Given the description of an element on the screen output the (x, y) to click on. 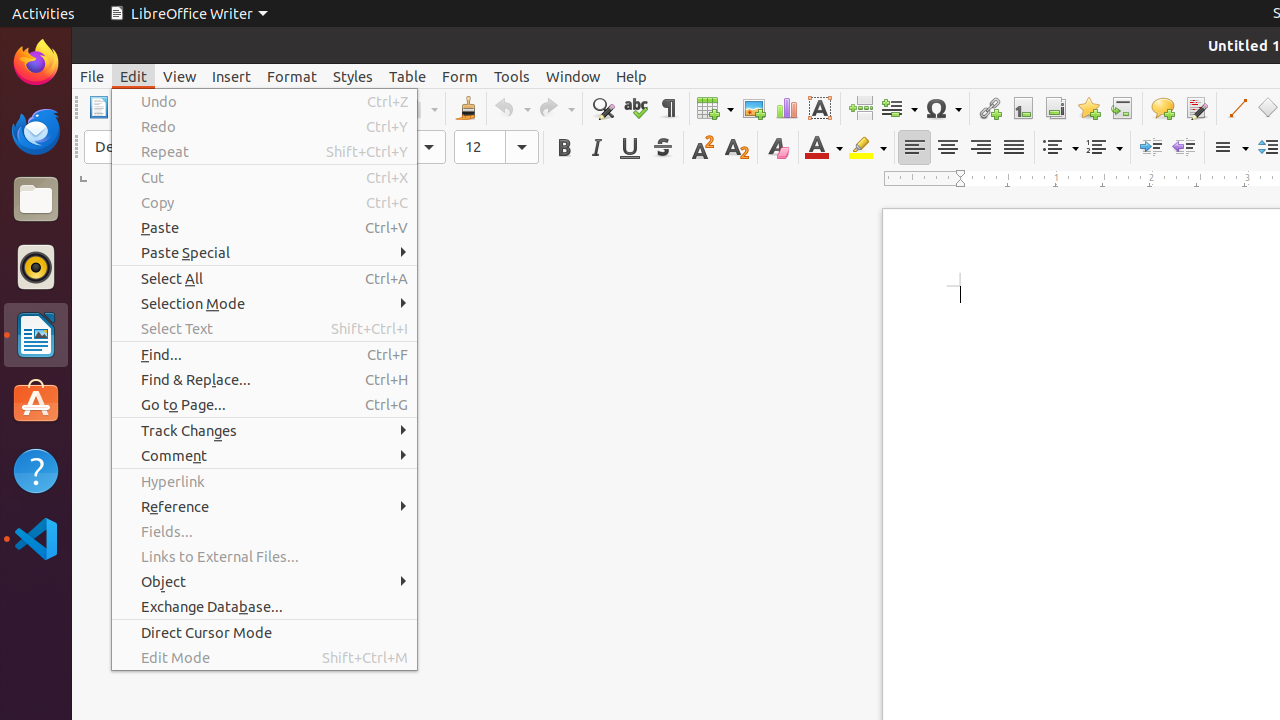
Center Element type: toggle-button (947, 147)
Line Element type: toggle-button (1236, 108)
Footnote Element type: push-button (1022, 108)
Undo Element type: push-button (512, 108)
Clear Element type: push-button (777, 147)
